Given the description of an element on the screen output the (x, y) to click on. 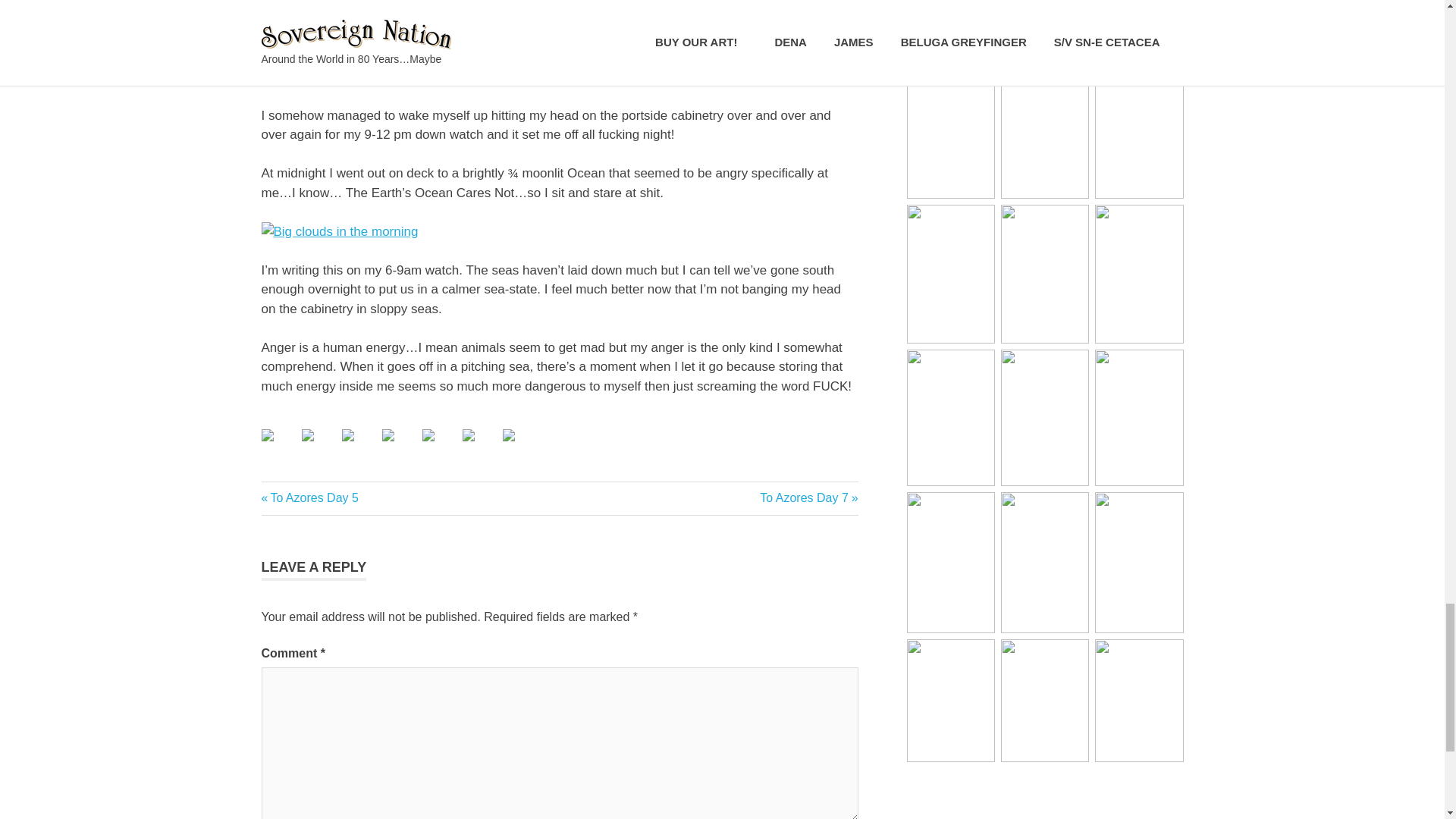
Share by email (507, 435)
Share on Facebook (266, 435)
Share on Twitter (307, 435)
Share on Reddit (358, 447)
Share on Linkedin (440, 447)
Pin it with Pinterest (387, 435)
Share on Linkedin (309, 497)
Share by email (427, 435)
Share on Twitter (520, 447)
Pin it with Pinterest (808, 497)
Share on tumblr (319, 447)
Share on Reddit (400, 447)
Share on Facebook (481, 447)
